Given the description of an element on the screen output the (x, y) to click on. 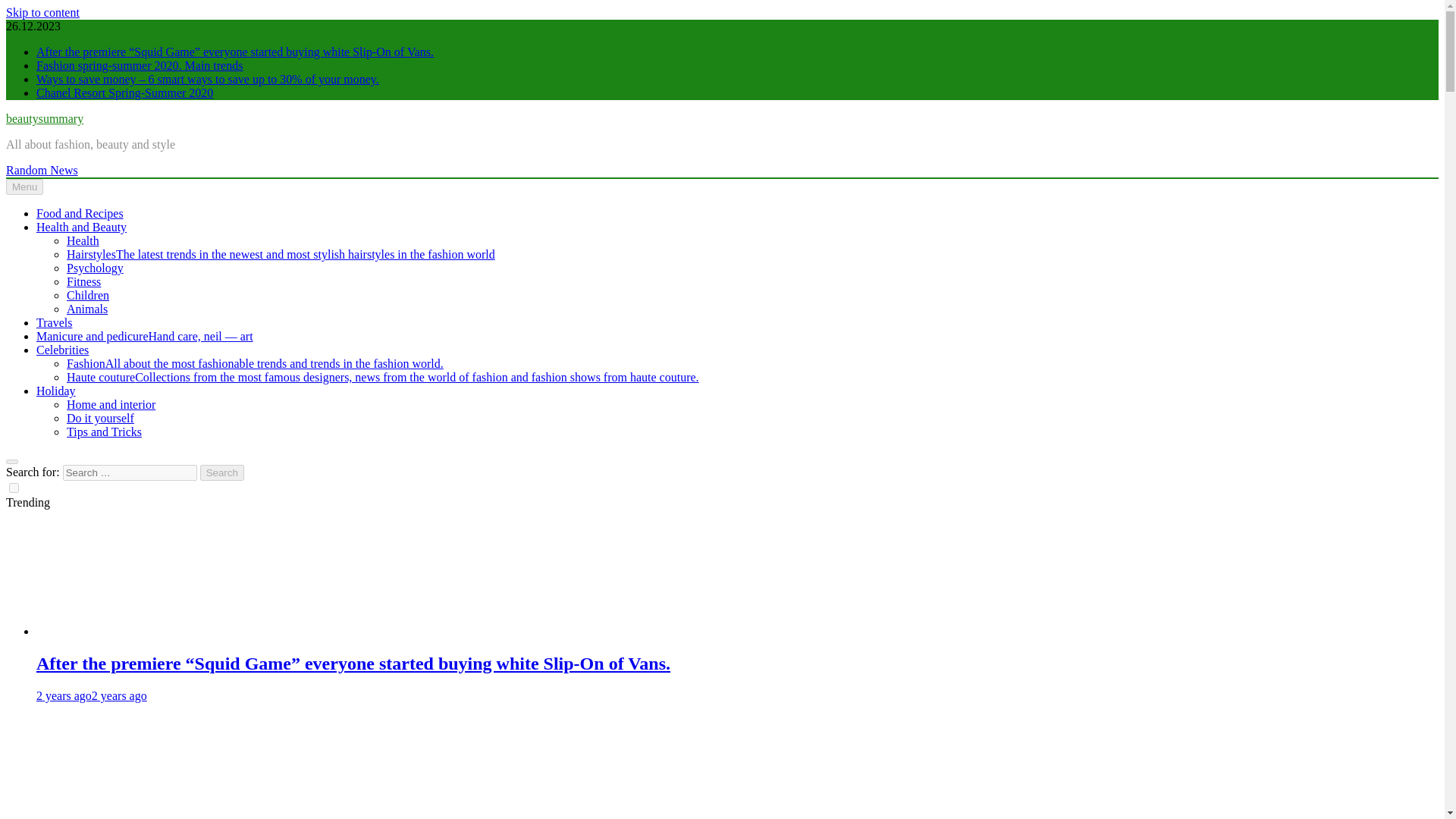
2 years ago2 years ago (91, 695)
Search (222, 472)
Health and Beauty (81, 226)
Holiday (55, 390)
Fashion spring-summer 2020. Main trends (123, 766)
Do it yourself (99, 418)
Travels (53, 322)
Food and Recipes (79, 213)
Psychology (94, 267)
beautysummary (43, 118)
Chanel Resort Spring-Summer 2020 (124, 92)
Animals (86, 308)
Search (222, 472)
Celebrities (62, 349)
